Given the description of an element on the screen output the (x, y) to click on. 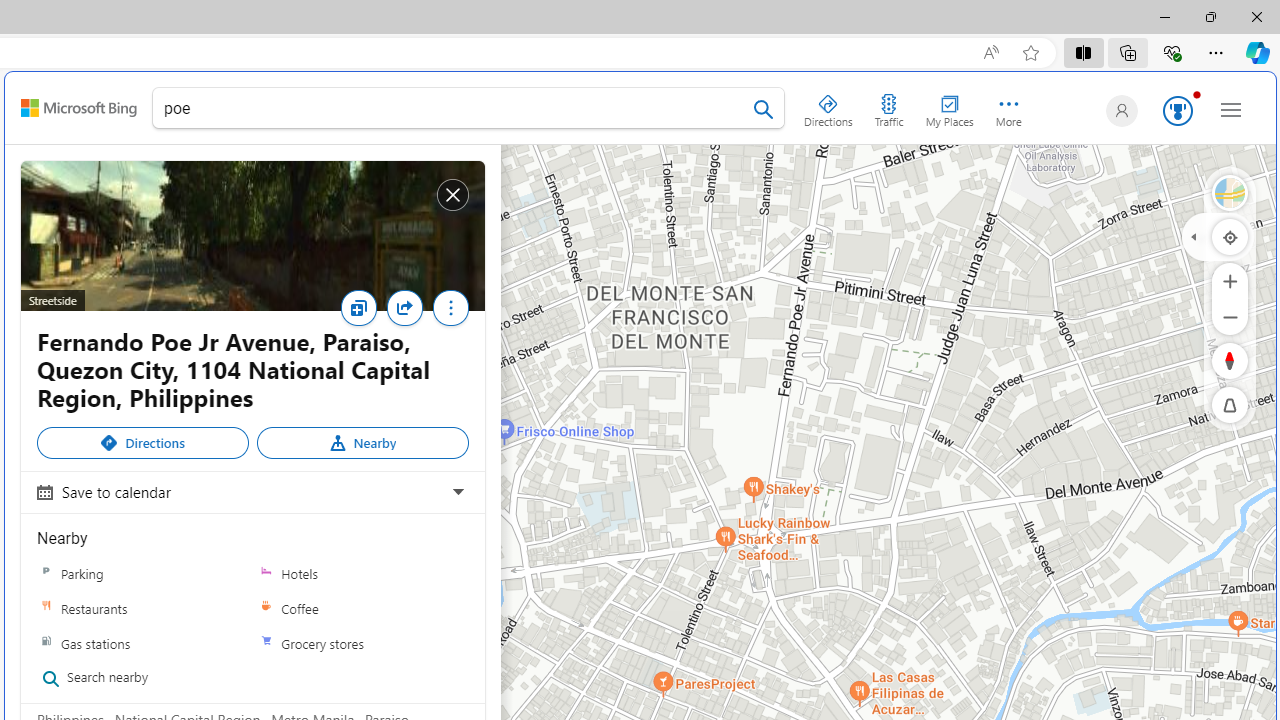
Locate me (1230, 236)
Share (404, 308)
Grocery stores (362, 642)
Parking (46, 573)
Add a search (453, 107)
Bird's eye (1230, 192)
Coffee (362, 608)
poe (468, 111)
Save (363, 314)
Reset to Default Rotation (1230, 360)
More (450, 313)
Eugene (1117, 110)
Share (409, 314)
Directions (828, 106)
Back to Bing search (78, 107)
